Given the description of an element on the screen output the (x, y) to click on. 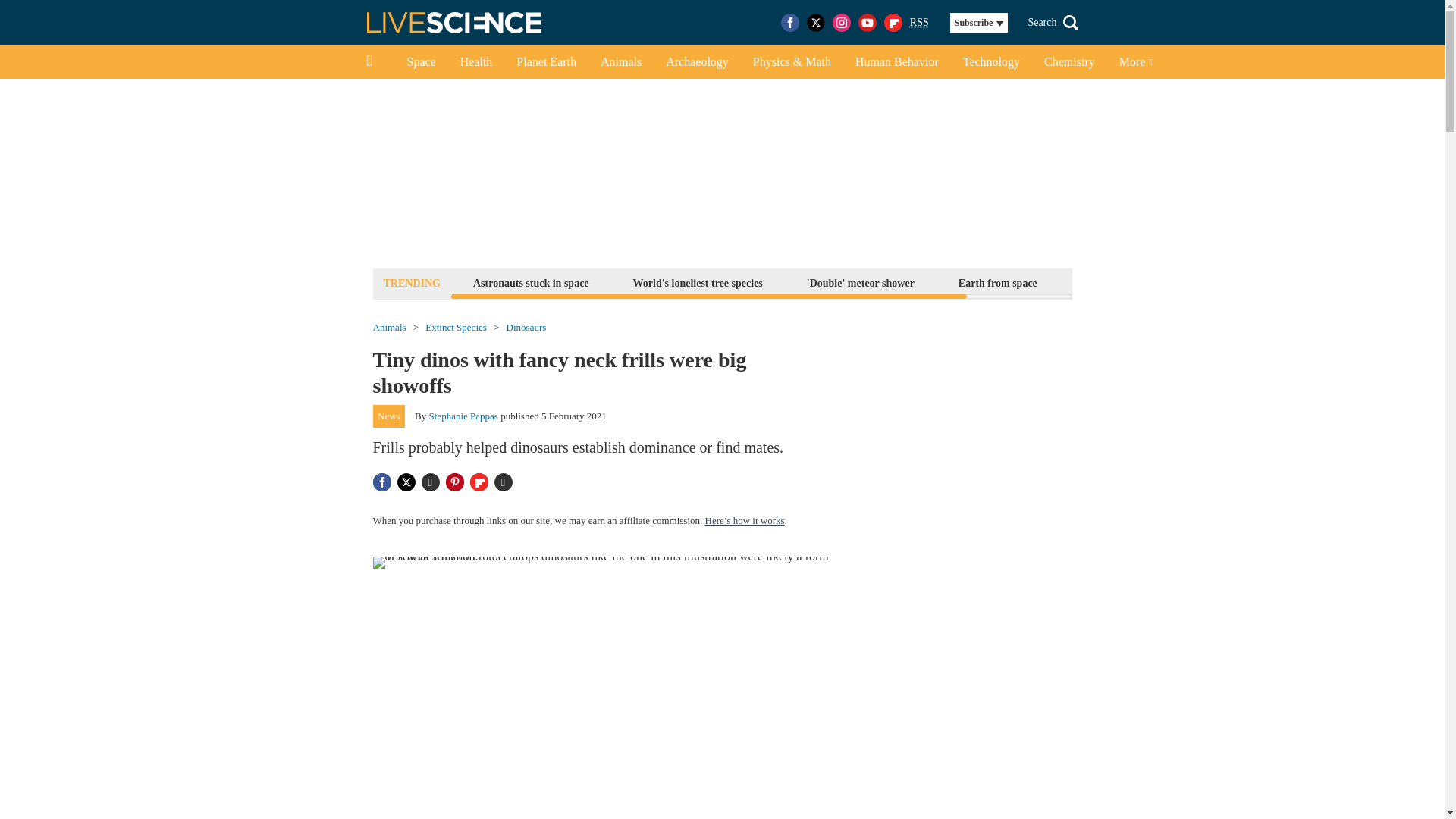
Health (476, 61)
Earth from space (997, 282)
Astronauts stuck in space (530, 282)
Delta Aquariids 2024 (1128, 282)
Animals (389, 327)
Animals (620, 61)
Archaeology (697, 61)
Chemistry (1069, 61)
Planet Earth (545, 61)
Stephanie Pappas (463, 415)
Human Behavior (896, 61)
'Double' meteor shower (861, 282)
Really Simple Syndication (919, 21)
Extinct Species (455, 327)
World's loneliest tree species (697, 282)
